Given the description of an element on the screen output the (x, y) to click on. 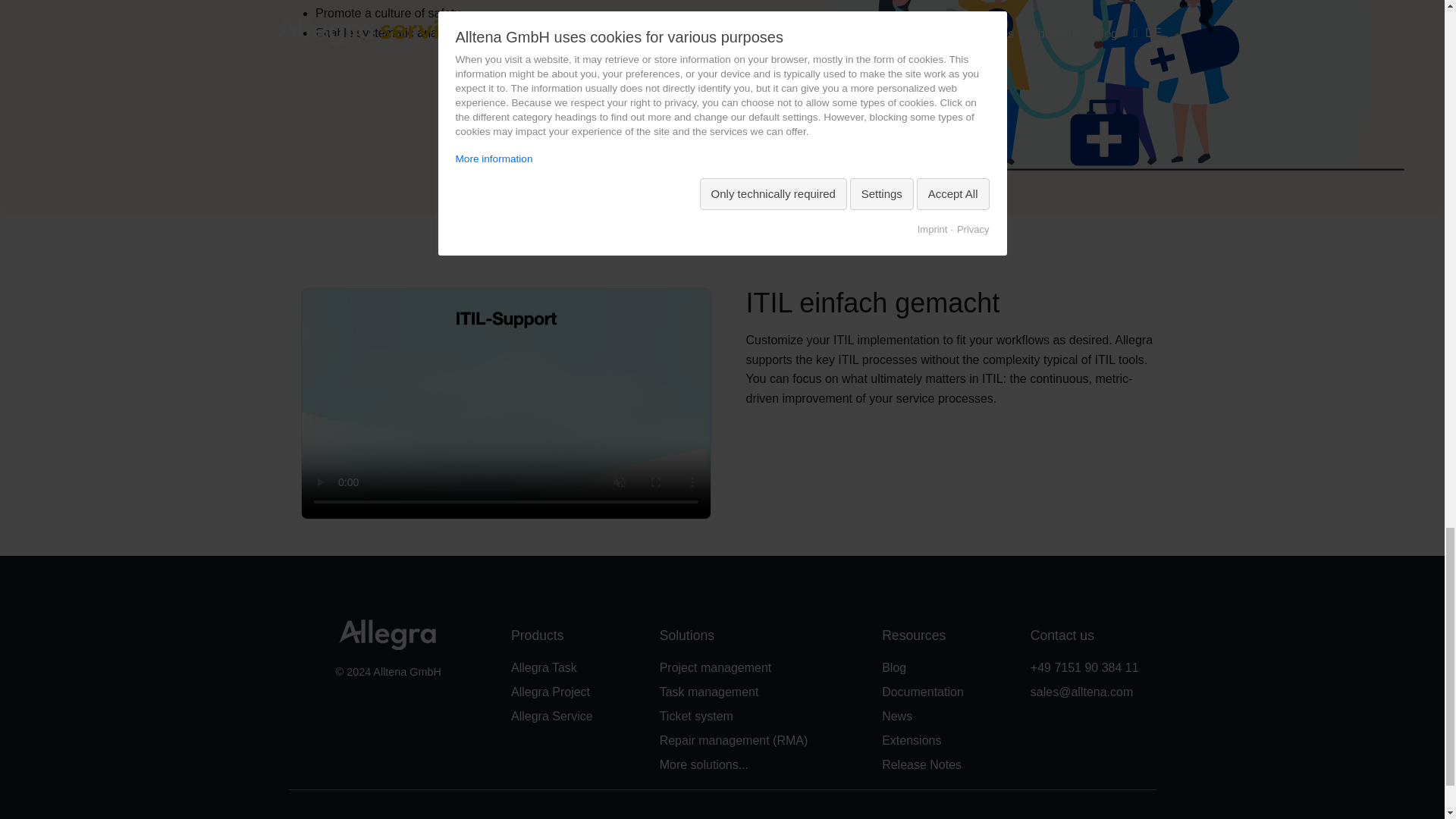
Allegra service management (551, 716)
project management software (550, 691)
project management (715, 667)
Allegra task management (543, 667)
